Given the description of an element on the screen output the (x, y) to click on. 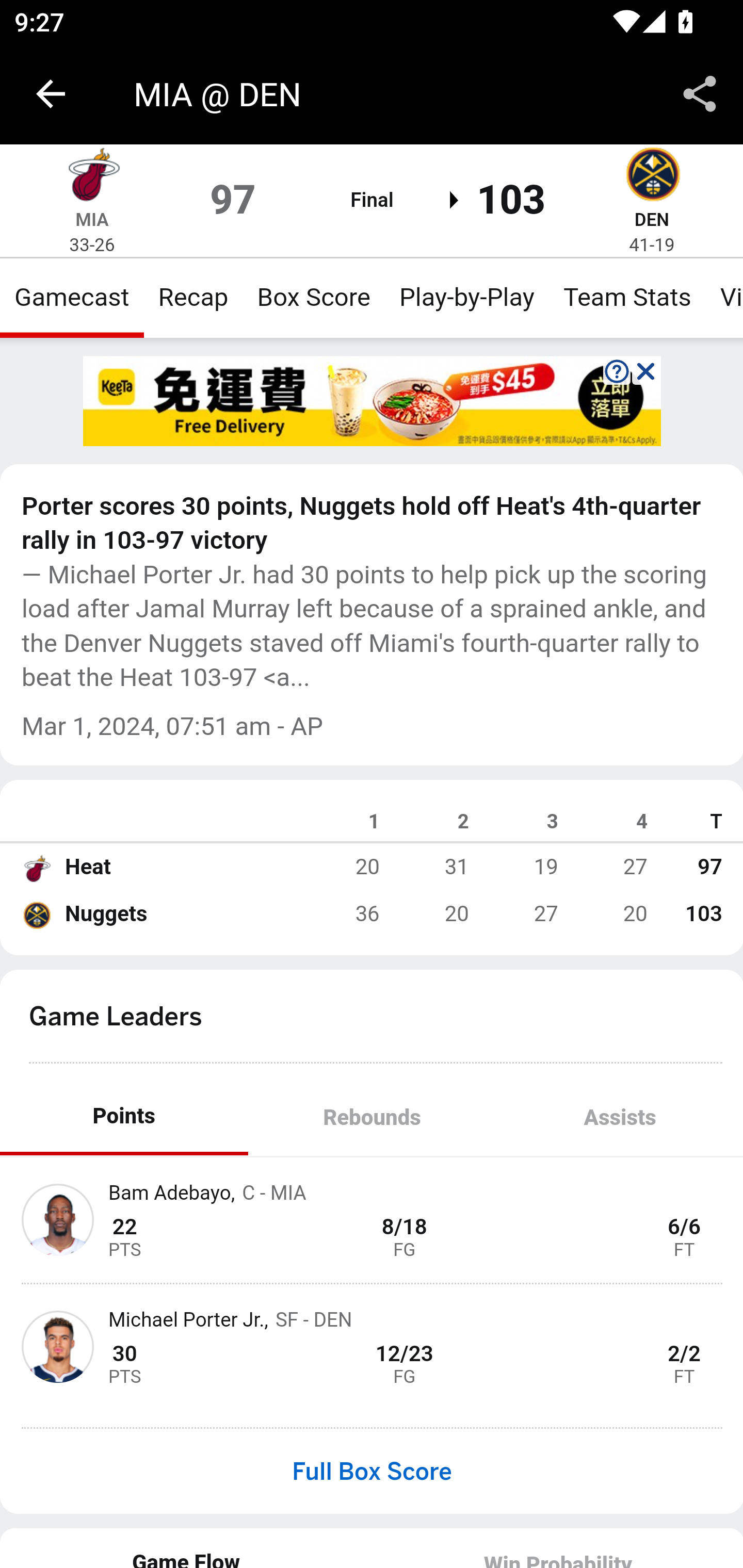
Navigate up (50, 93)
Share (699, 93)
Miami Heat (91, 177)
Denver Nuggets (651, 177)
MIA (91, 219)
DEN (651, 219)
Gamecast (72, 296)
Recap (192, 296)
Box Score (314, 296)
Play-by-Play (466, 296)
Team Stats (627, 296)
Miami Heat (36, 866)
Denver Nuggets (36, 913)
Points (124, 1116)
Rebounds (371, 1116)
Assists (618, 1116)
Full Box Score (371, 1471)
Game Flow (186, 1547)
Win Probability (557, 1547)
